Given the description of an element on the screen output the (x, y) to click on. 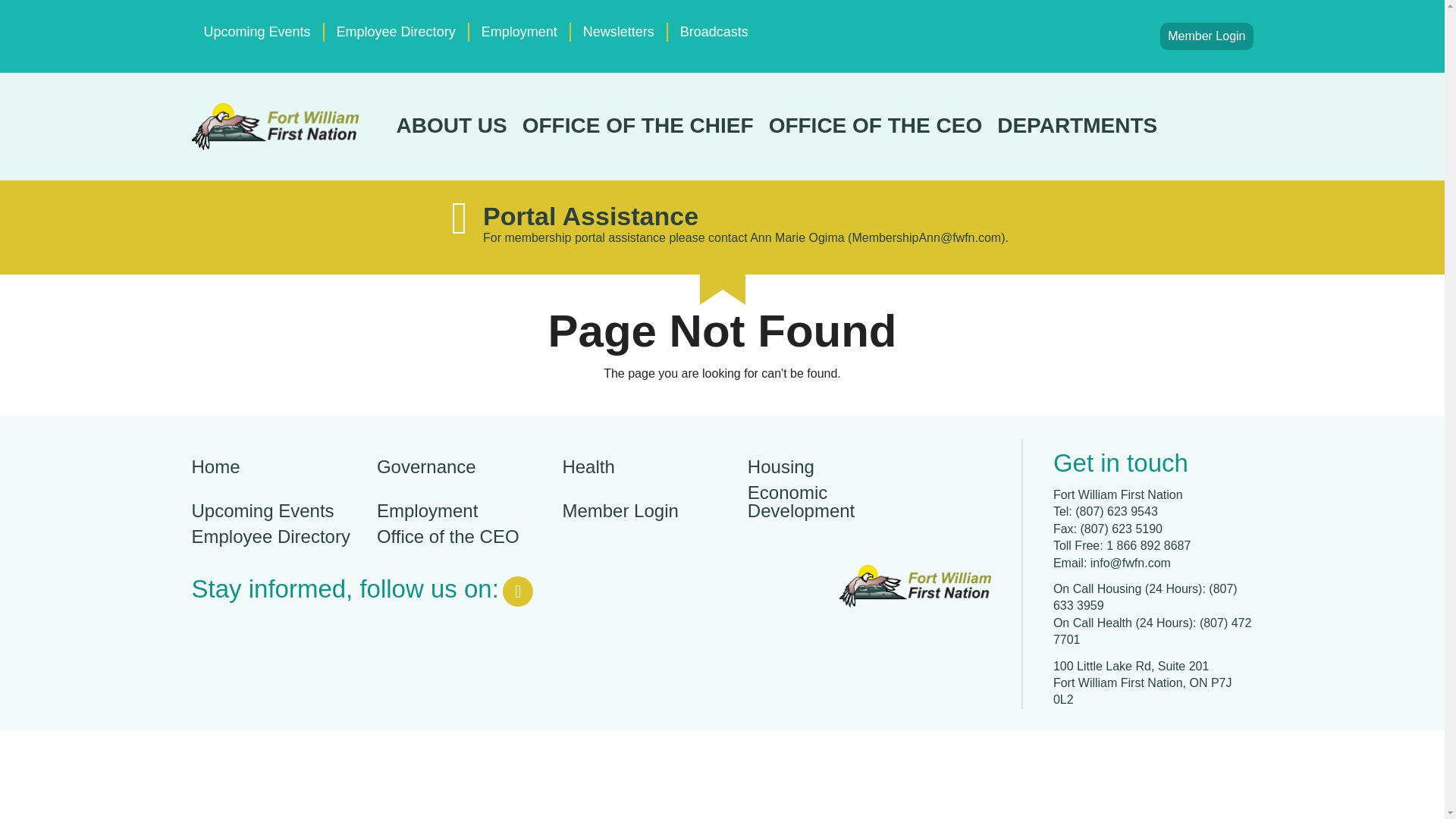
Fort William First Nation (274, 126)
